Given the description of an element on the screen output the (x, y) to click on. 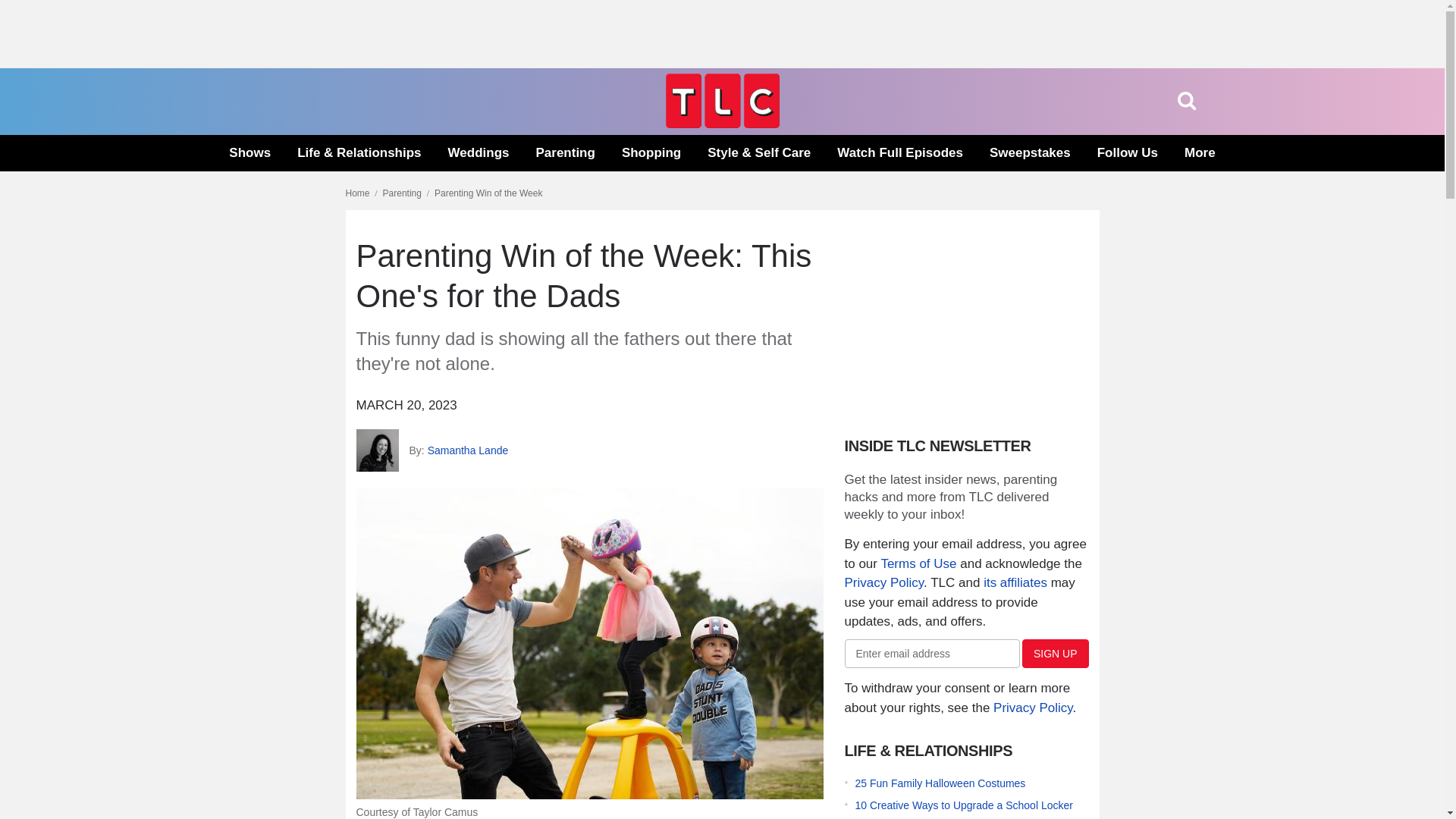
Weddings (478, 153)
Shows (249, 153)
home (721, 124)
